Given the description of an element on the screen output the (x, y) to click on. 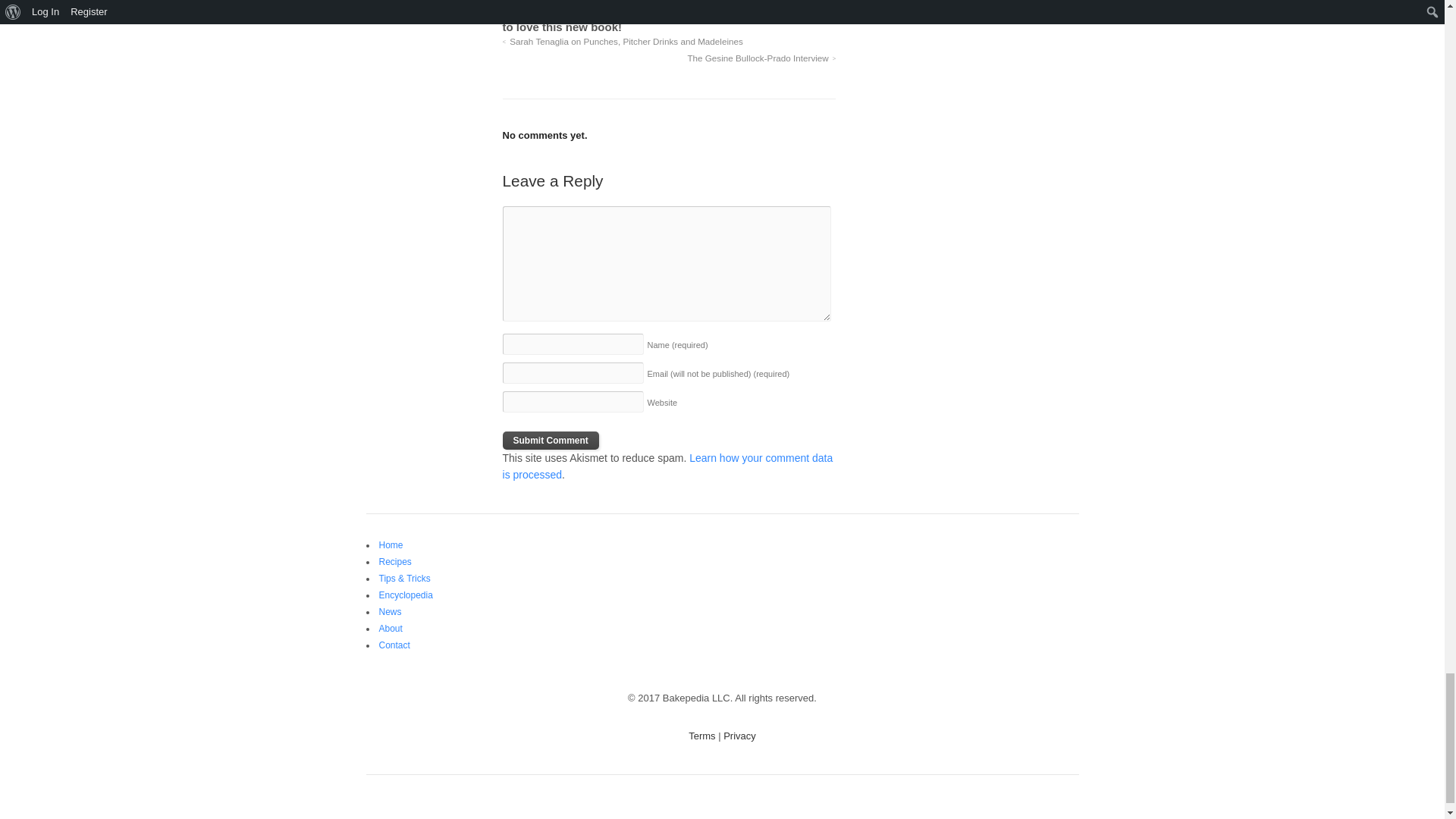
Submit Comment (550, 440)
Recipes (395, 561)
Home (390, 544)
Submit Comment (550, 440)
Learn how your comment data is processed (667, 466)
Sarah Tenaglia on Punches, Pitcher Drinks and Madeleines (622, 40)
The Gesine Bullock-Prado Interview (761, 58)
